Given the description of an element on the screen output the (x, y) to click on. 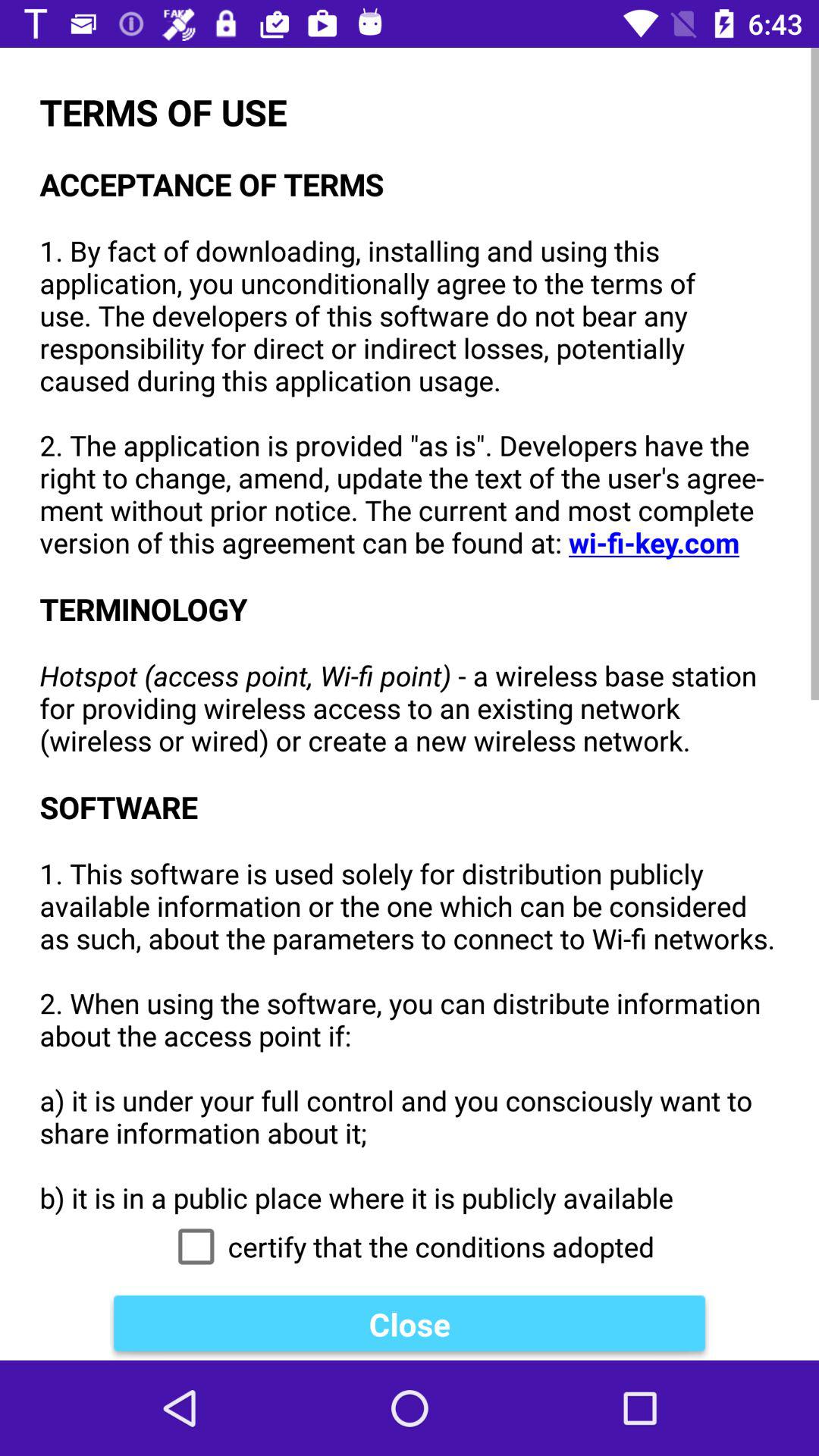
open the item above the certify that the (409, 630)
